Given the description of an element on the screen output the (x, y) to click on. 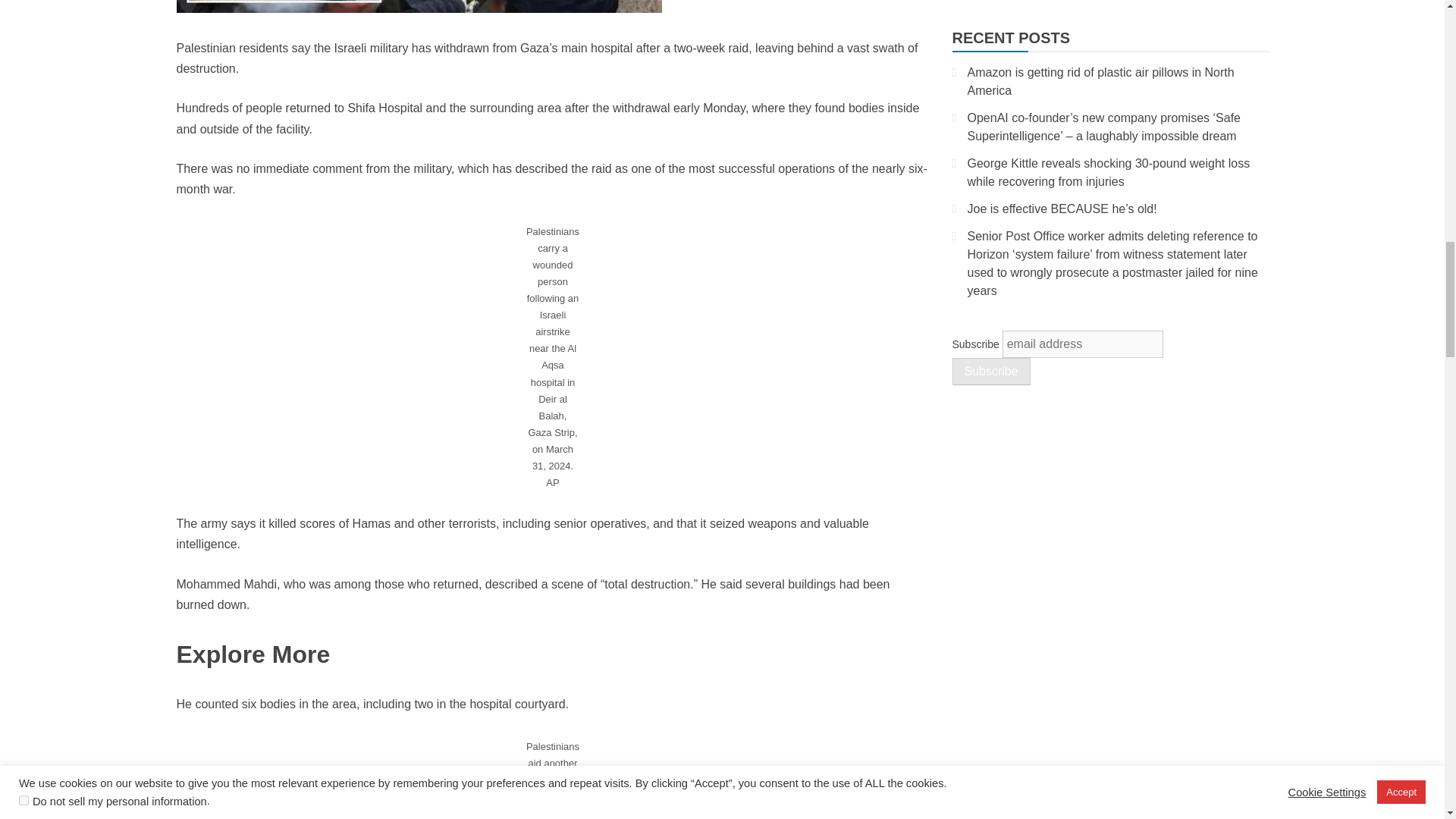
Subscribe (991, 370)
